Given the description of an element on the screen output the (x, y) to click on. 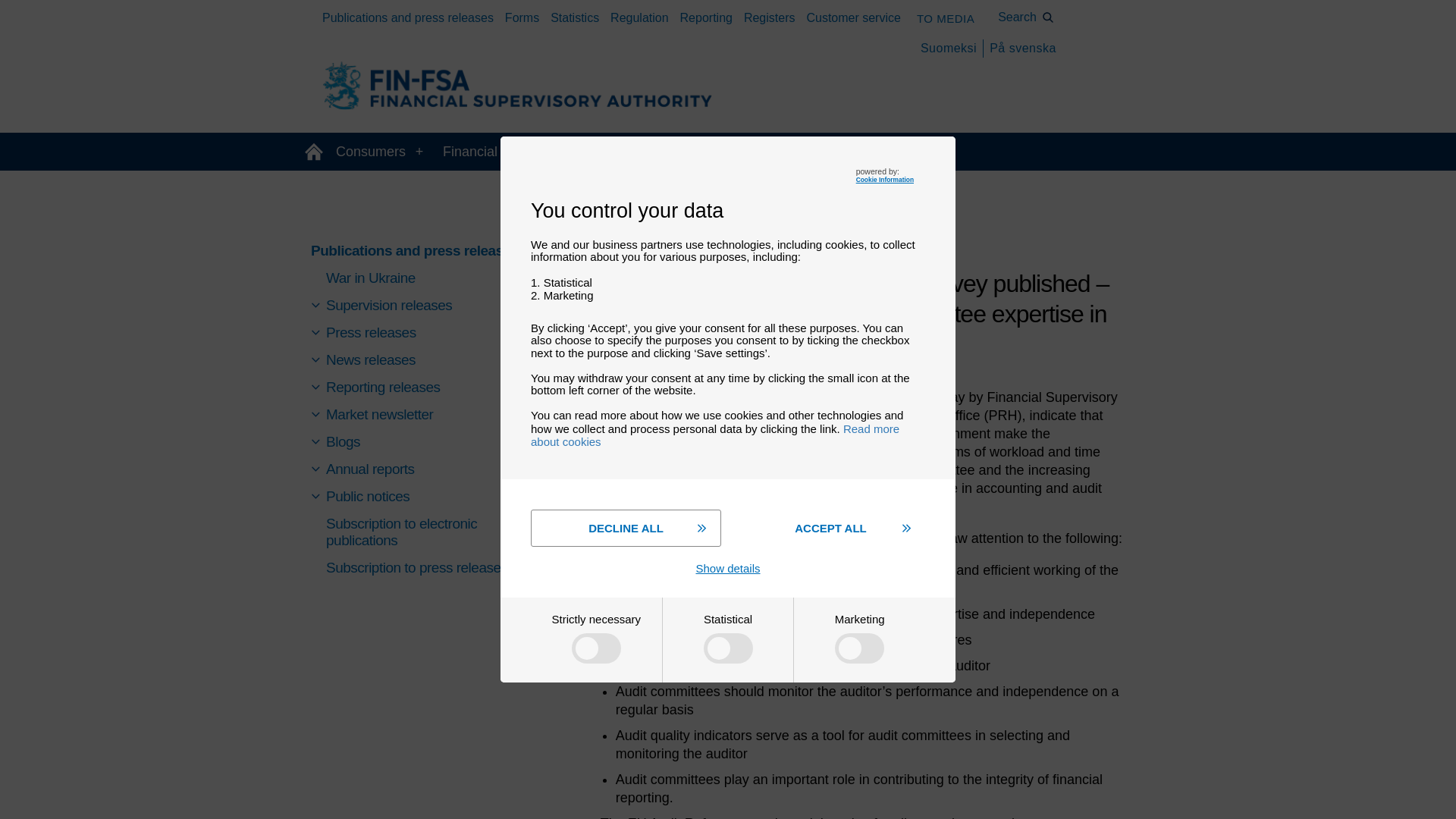
DECLINE ALL (625, 528)
Read more about cookies (715, 435)
ACCEPT ALL (830, 528)
Search (1026, 17)
Cookie Information (885, 179)
Show details (727, 567)
